Given the description of an element on the screen output the (x, y) to click on. 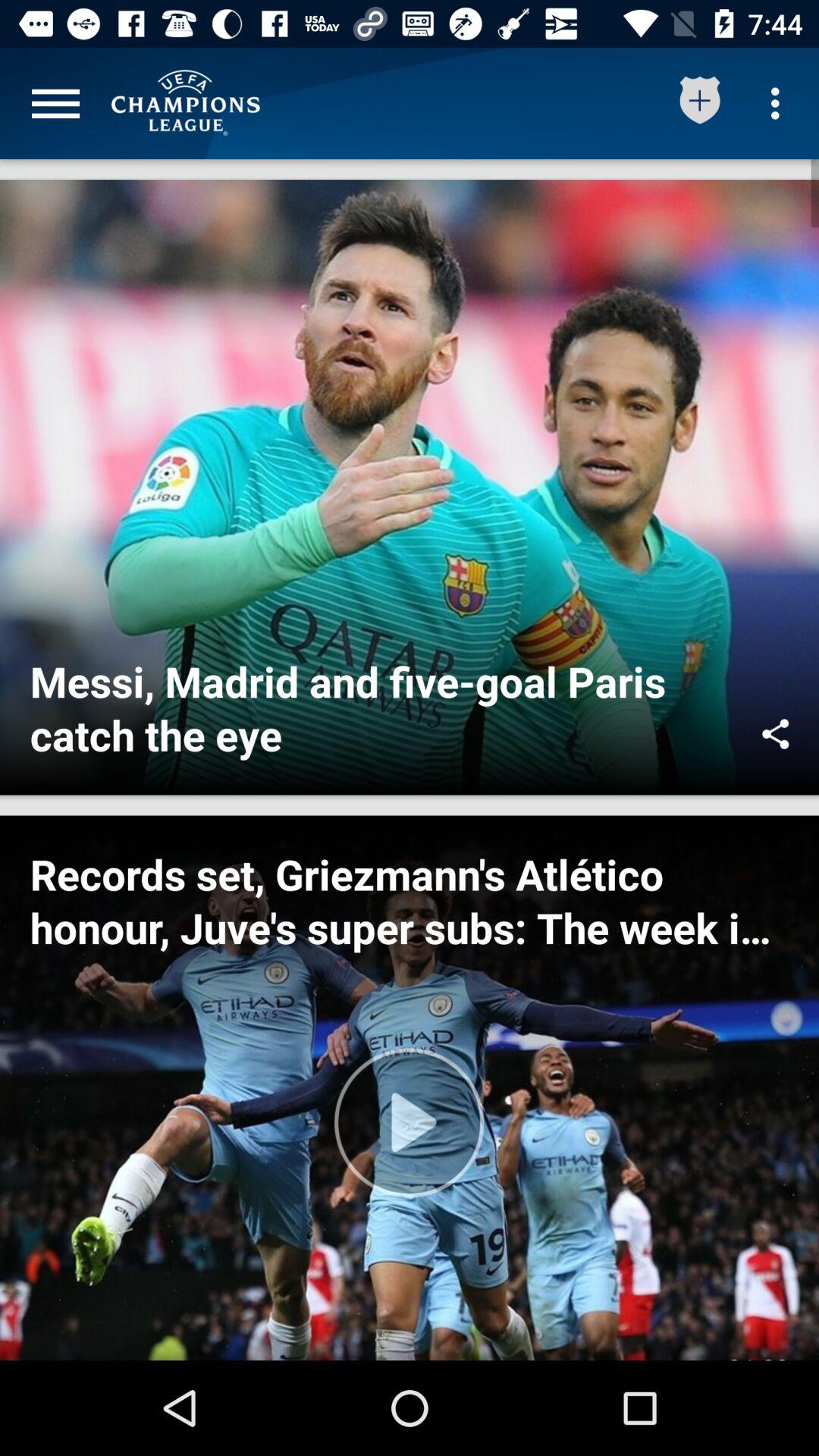
menu (55, 103)
